Given the description of an element on the screen output the (x, y) to click on. 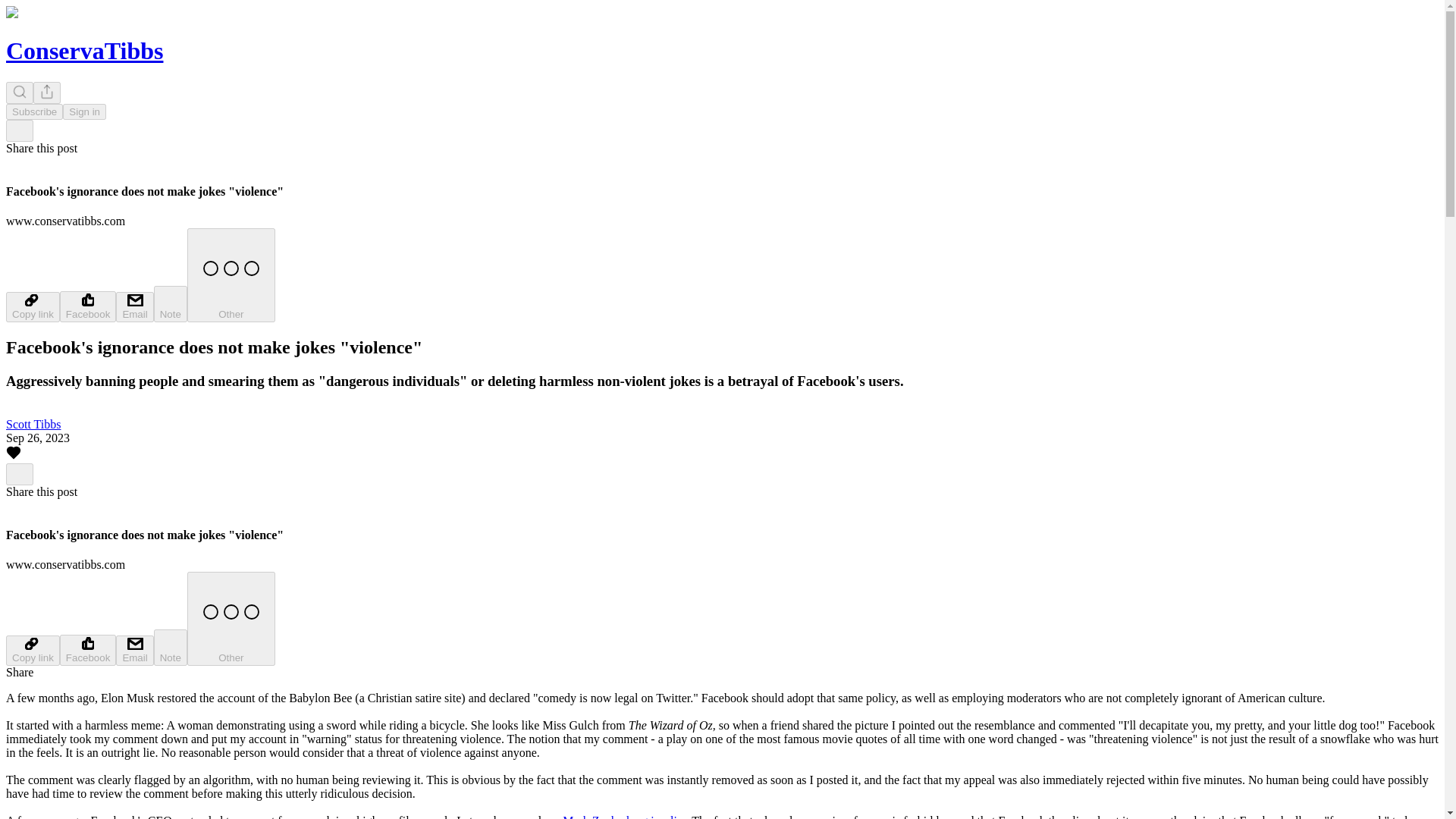
Other (231, 618)
Scott Tibbs (33, 423)
Mark Zuckerberg is a liar. (625, 816)
Note (170, 303)
Facebook (87, 306)
Email (134, 306)
Copy link (32, 650)
Other (231, 275)
Subscribe (33, 111)
Facebook (87, 649)
